Given the description of an element on the screen output the (x, y) to click on. 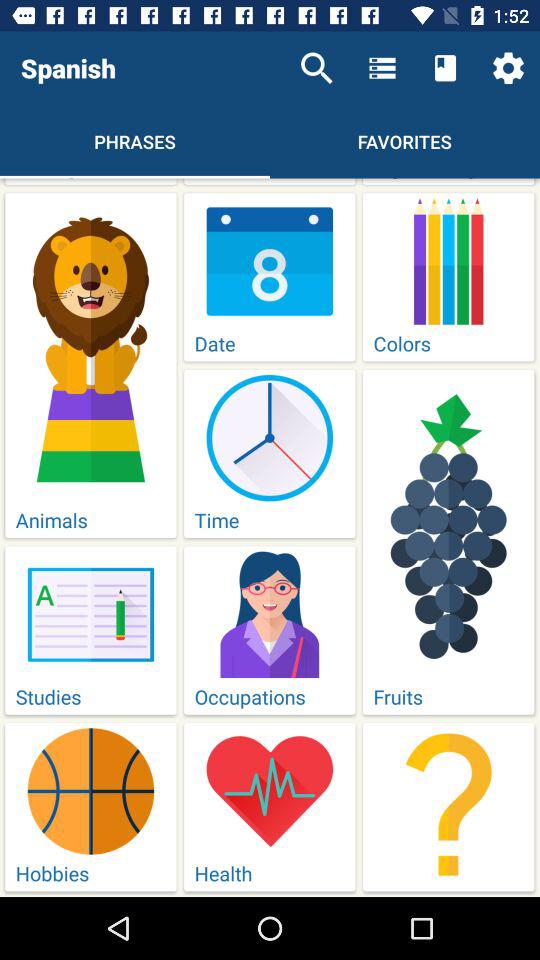
click item next to the spanish icon (316, 67)
